Given the description of an element on the screen output the (x, y) to click on. 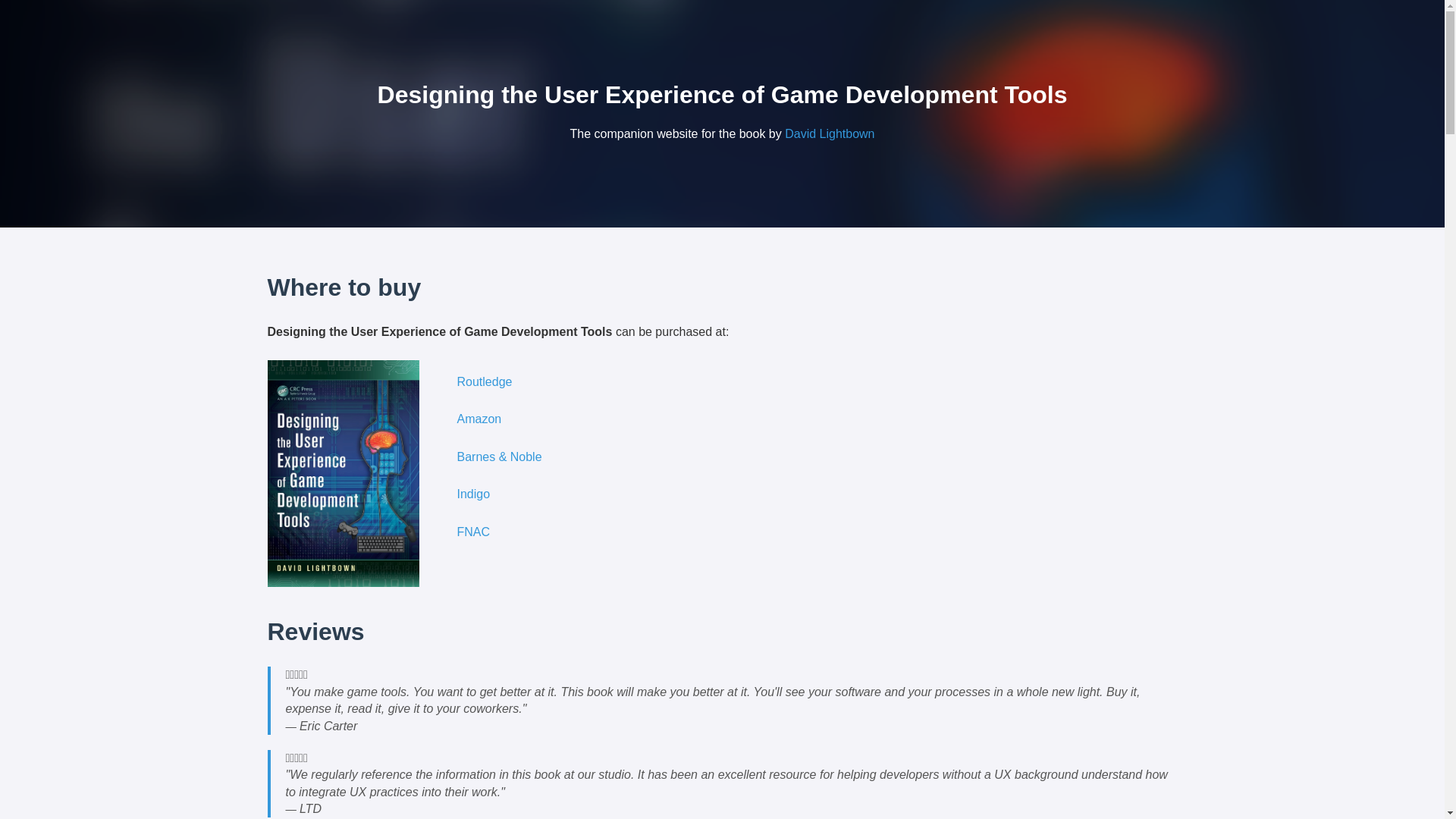
Indigo (473, 493)
Routledge (484, 381)
Amazon (478, 418)
David Lightbown (829, 133)
FNAC (473, 531)
